Given the description of an element on the screen output the (x, y) to click on. 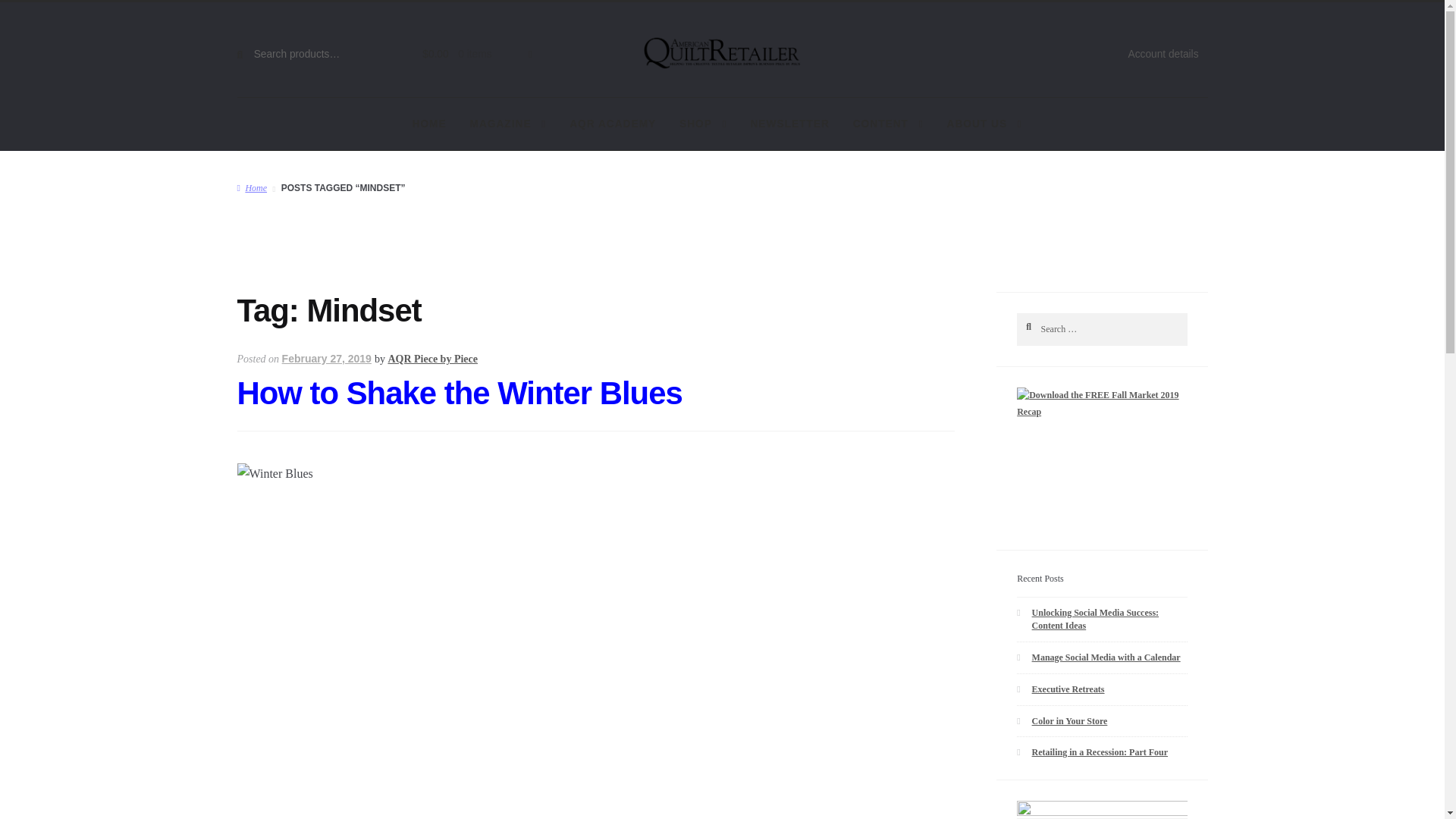
View your shopping cart (469, 54)
AQR ACADEMY (612, 124)
NEWSLETTER (789, 124)
SHOP (702, 124)
HOME (429, 124)
ABOUT US (984, 124)
CONTENT (888, 124)
